Given the description of an element on the screen output the (x, y) to click on. 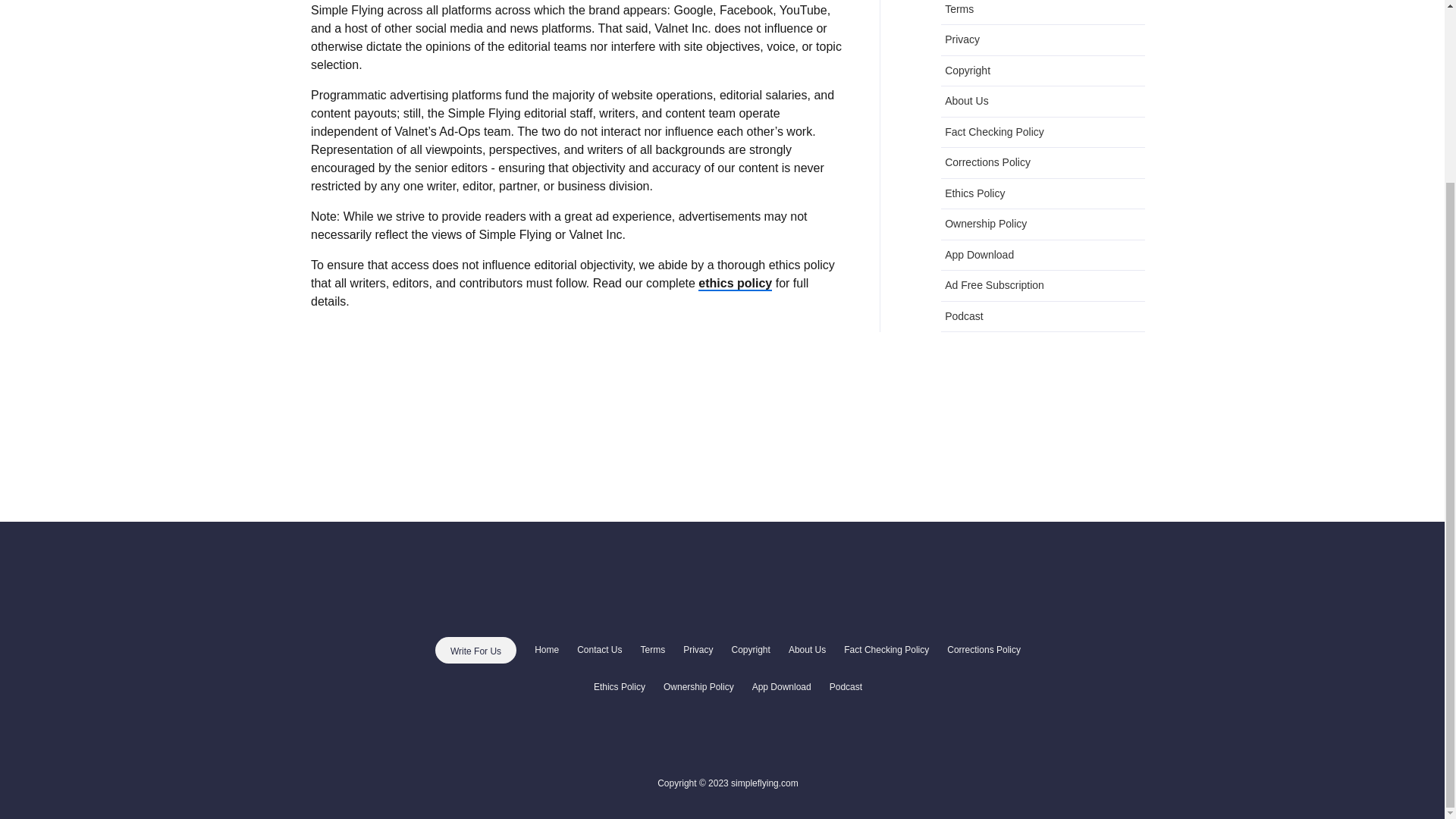
ethics policy (734, 283)
